Given the description of an element on the screen output the (x, y) to click on. 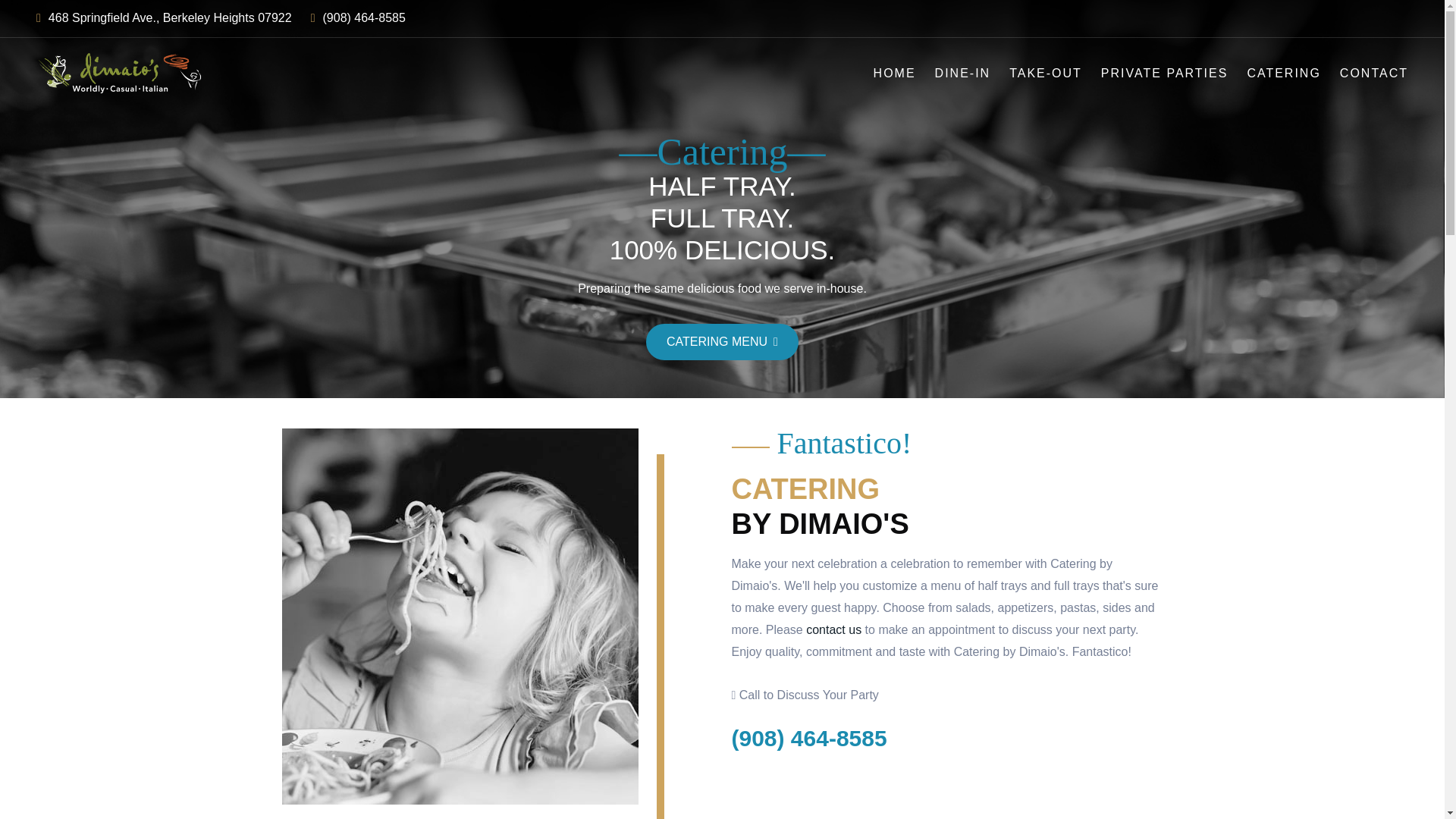
HOME (894, 73)
PRIVATE PARTIES (1164, 73)
DINE-IN (962, 73)
CONTACT (1373, 73)
CATERING (1283, 73)
TAKE-OUT (1045, 73)
contact us (833, 630)
468 Springfield Ave., Berkeley Heights 07922 (164, 18)
